Given the description of an element on the screen output the (x, y) to click on. 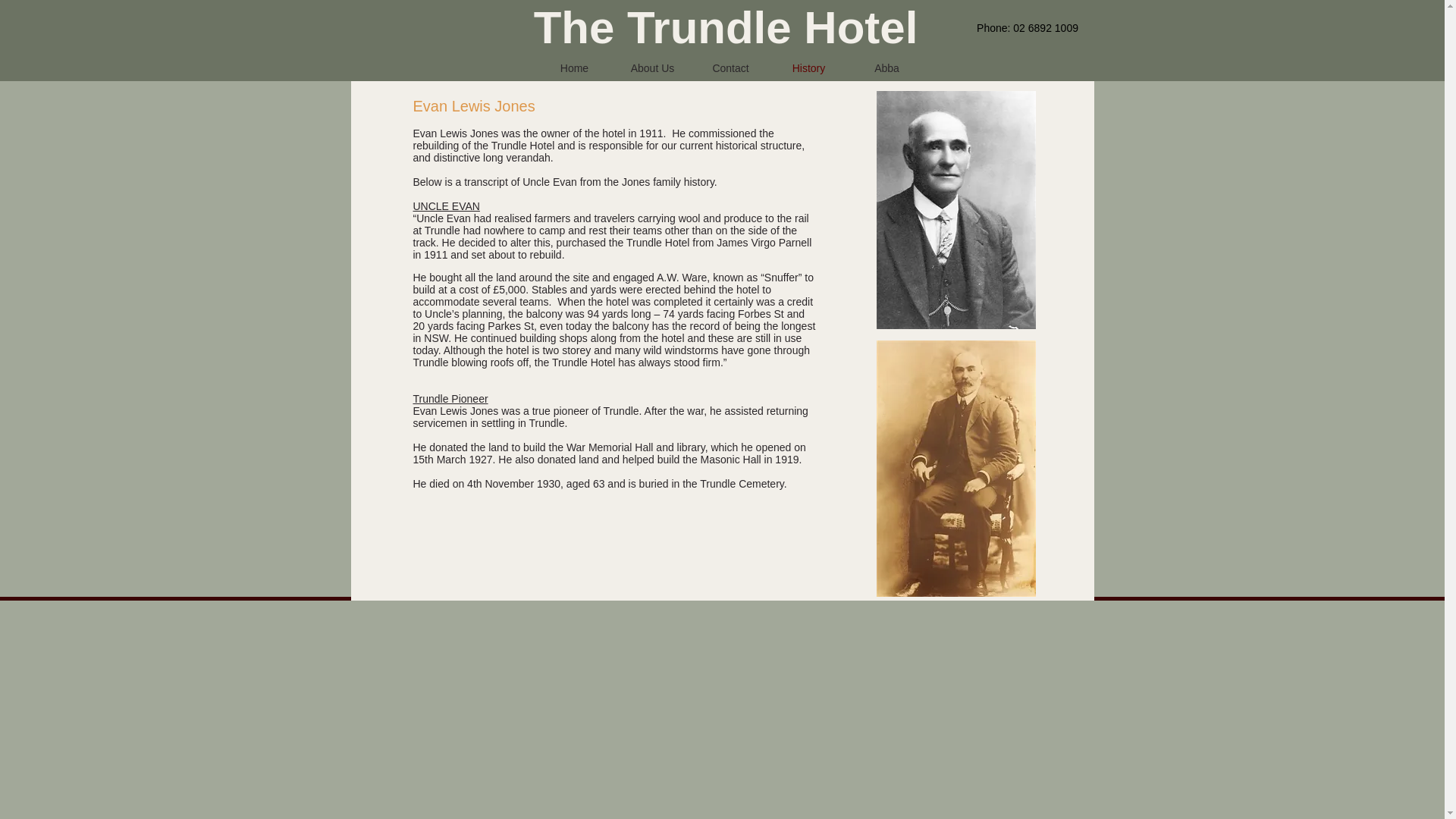
Contact (730, 67)
Home (573, 67)
History (808, 67)
About Us (651, 67)
Abba (886, 67)
